Given the description of an element on the screen output the (x, y) to click on. 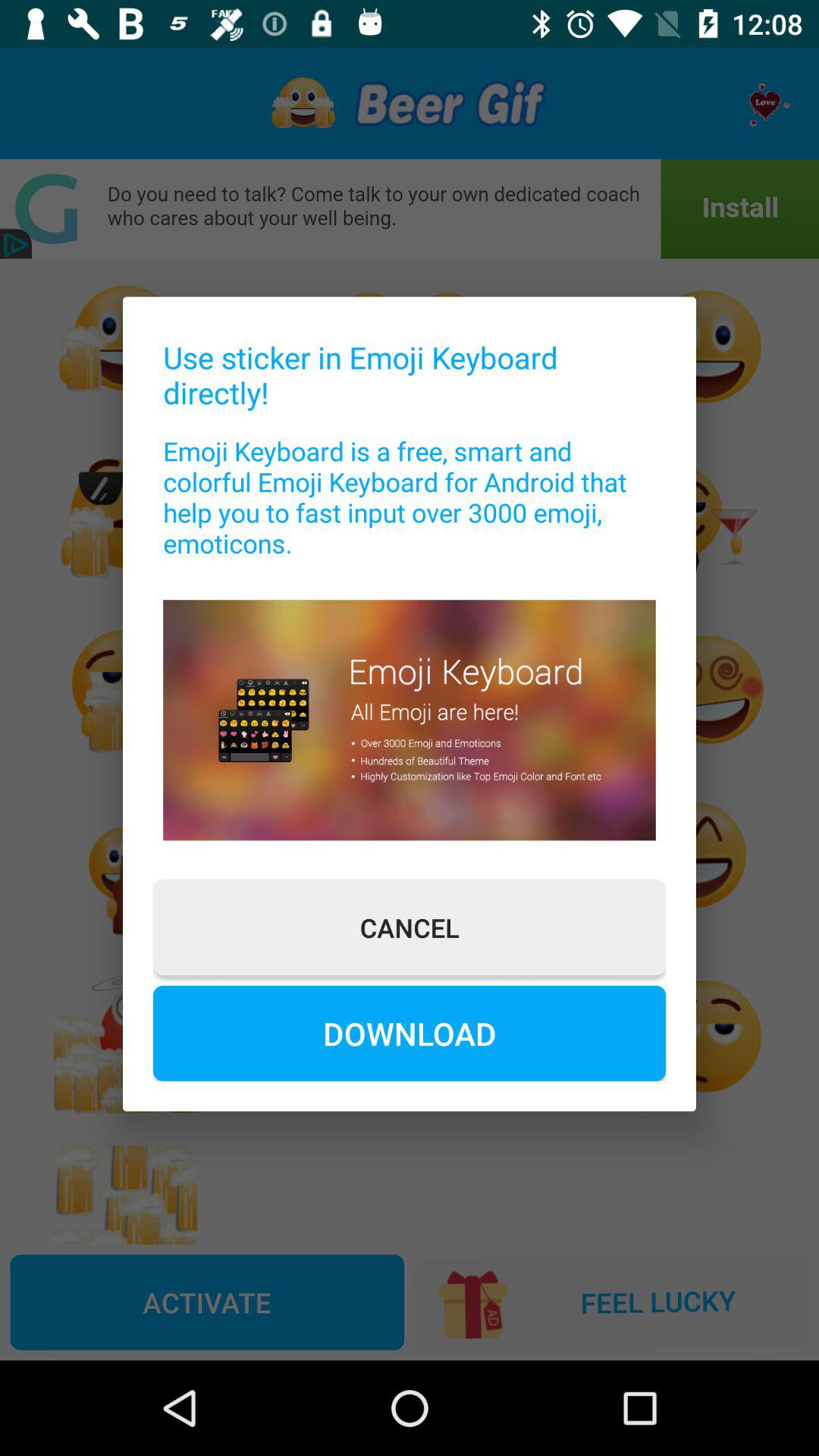
click cancel icon (409, 927)
